Given the description of an element on the screen output the (x, y) to click on. 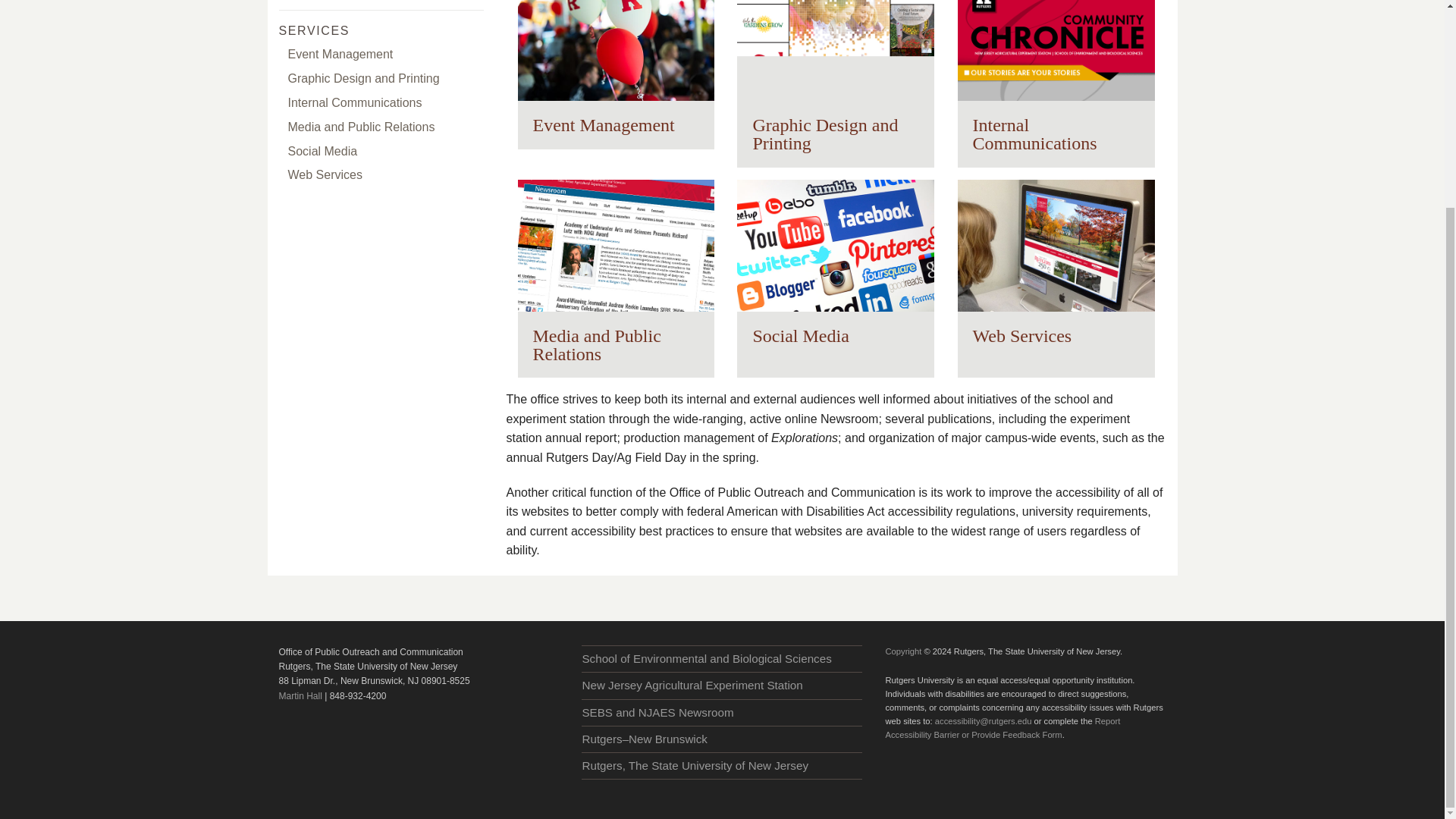
Social Media (835, 269)
Internal Communications (381, 103)
Social Media (381, 151)
Report Accessibility Barrier or Provide Feedback Form (1003, 727)
School of Environmental and Biological Sciences (720, 658)
Graphic Design and Printing (835, 83)
Event Management (615, 74)
Media and Public Relations (615, 278)
Rutgers, The State University of New Jersey (720, 765)
Web Services (381, 175)
